Given the description of an element on the screen output the (x, y) to click on. 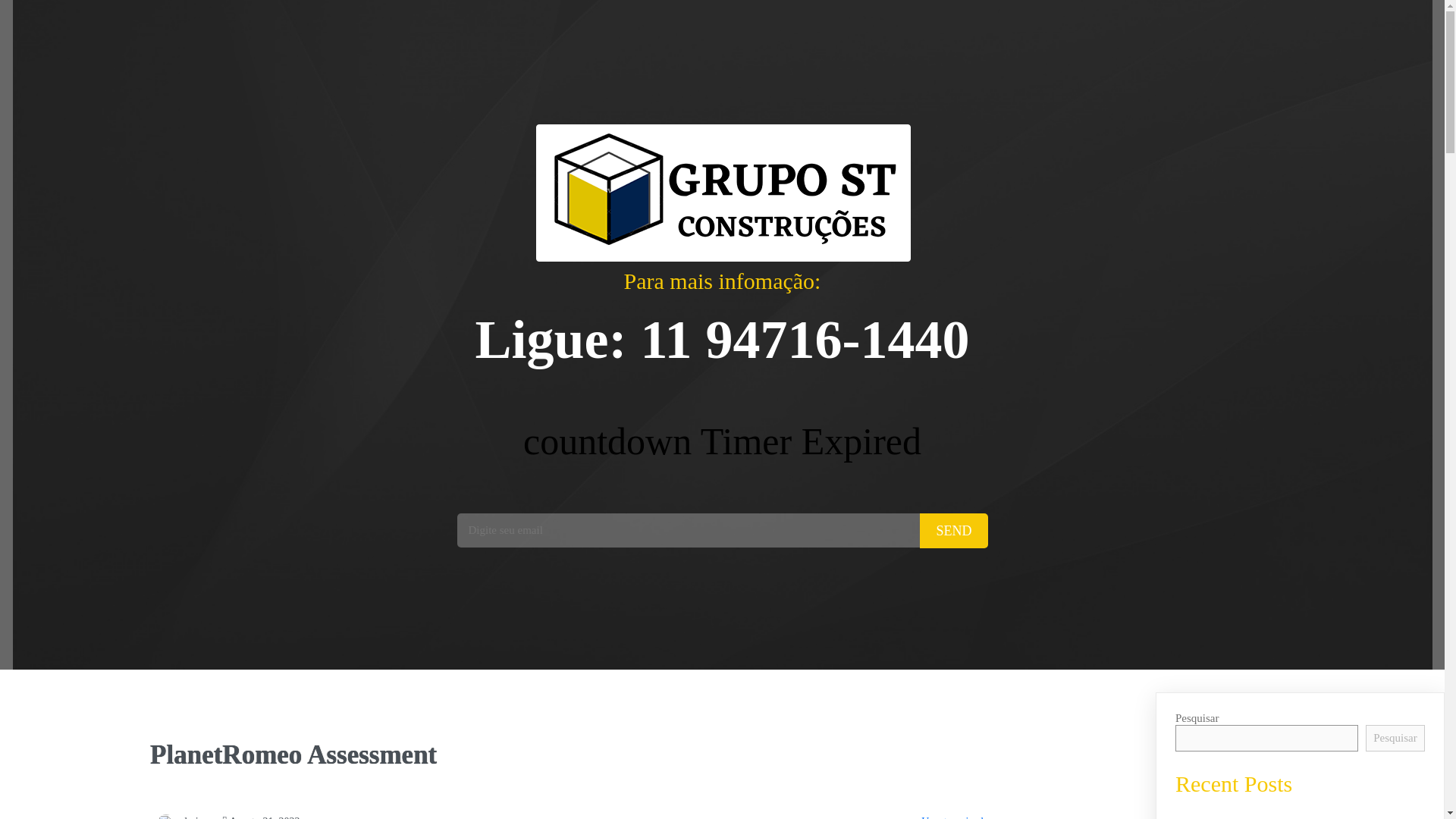
Uncategorized (952, 817)
admin (180, 817)
Pesquisar (1395, 737)
SEND (953, 530)
Agosto 21, 2022 (260, 817)
